Given the description of an element on the screen output the (x, y) to click on. 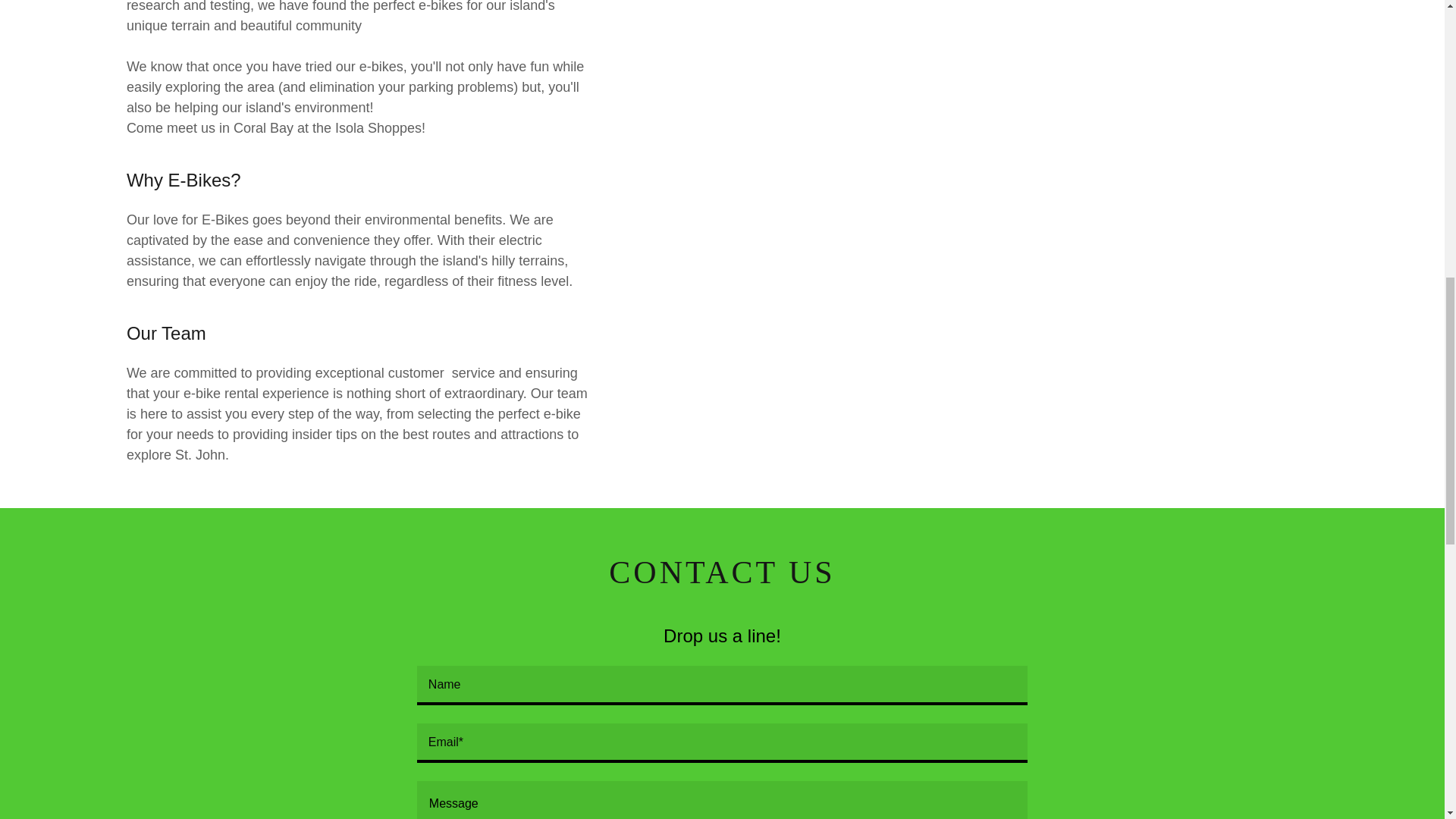
ACCEPT (1274, 324)
